Given the description of an element on the screen output the (x, y) to click on. 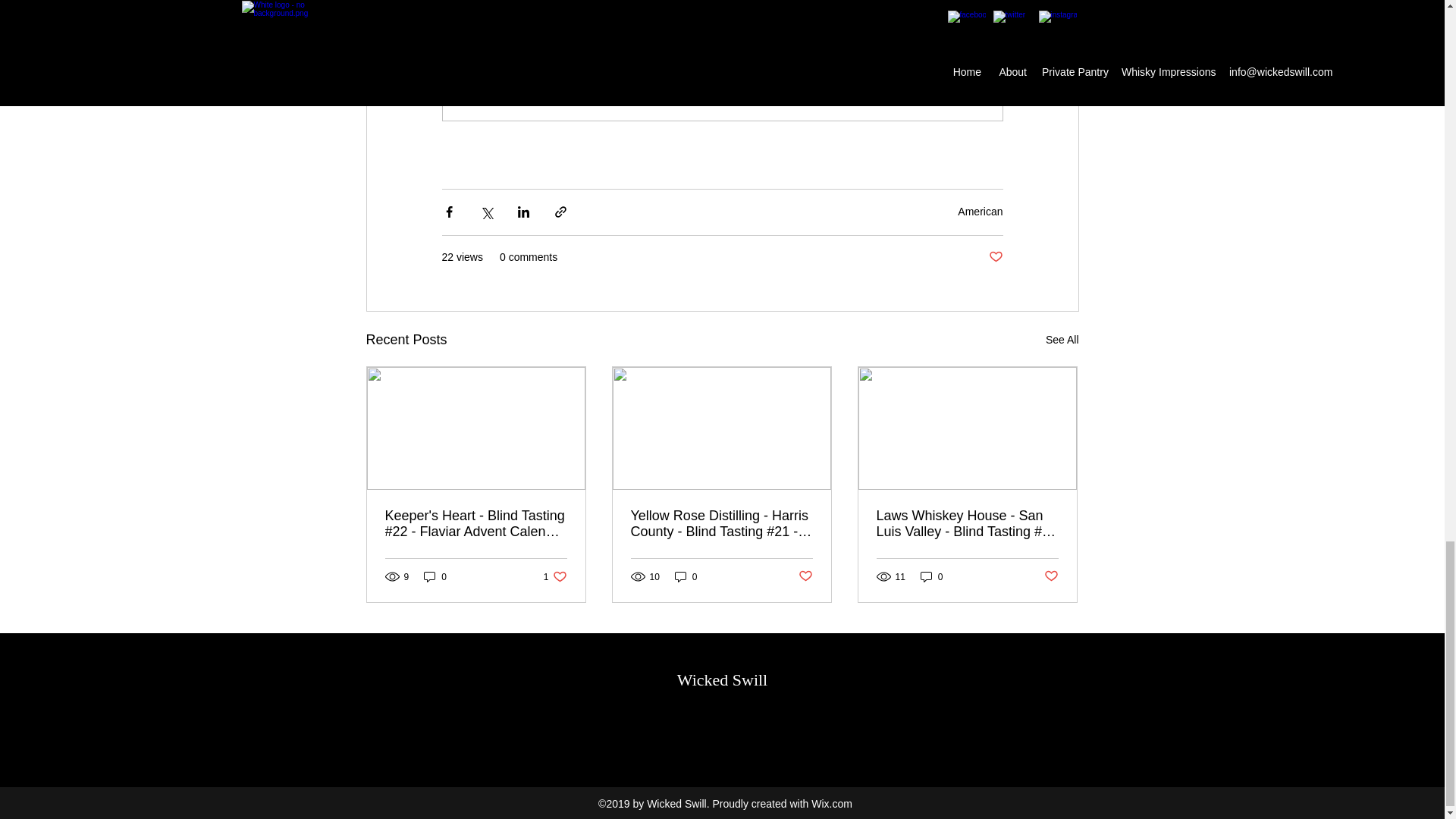
See All (1061, 340)
0 (931, 576)
Post not marked as liked (1050, 576)
Post not marked as liked (555, 576)
0 (995, 257)
American (435, 576)
0 (980, 211)
Post not marked as liked (685, 576)
